Given the description of an element on the screen output the (x, y) to click on. 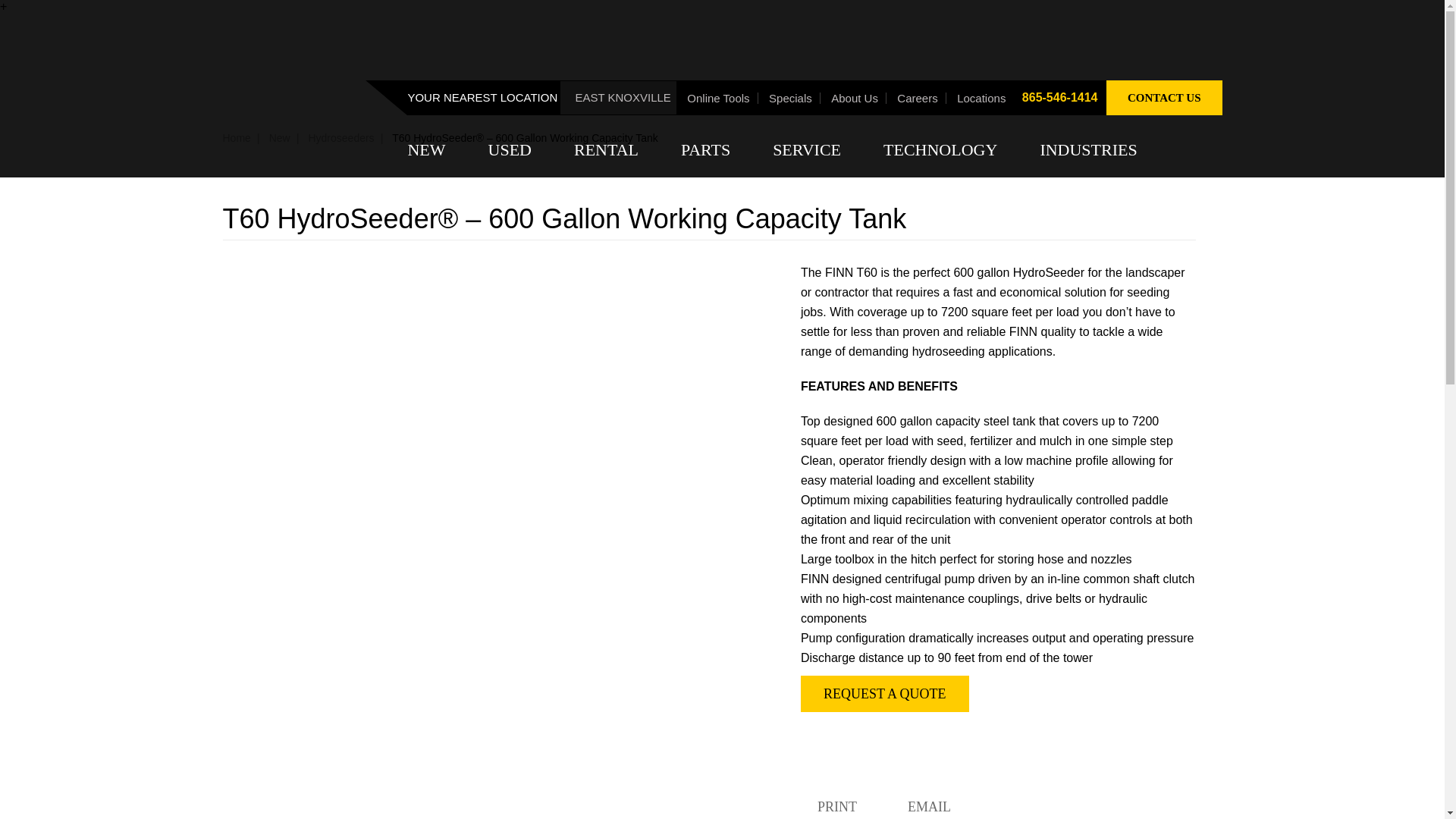
865-546-1414 (1059, 97)
Careers (918, 98)
CONTACT US (1164, 97)
About Us (856, 98)
NEW (433, 150)
Online Tools (719, 98)
Specials (793, 98)
Locations (983, 98)
EAST KNOXVILLE (617, 97)
Request a Quote (884, 693)
